Given the description of an element on the screen output the (x, y) to click on. 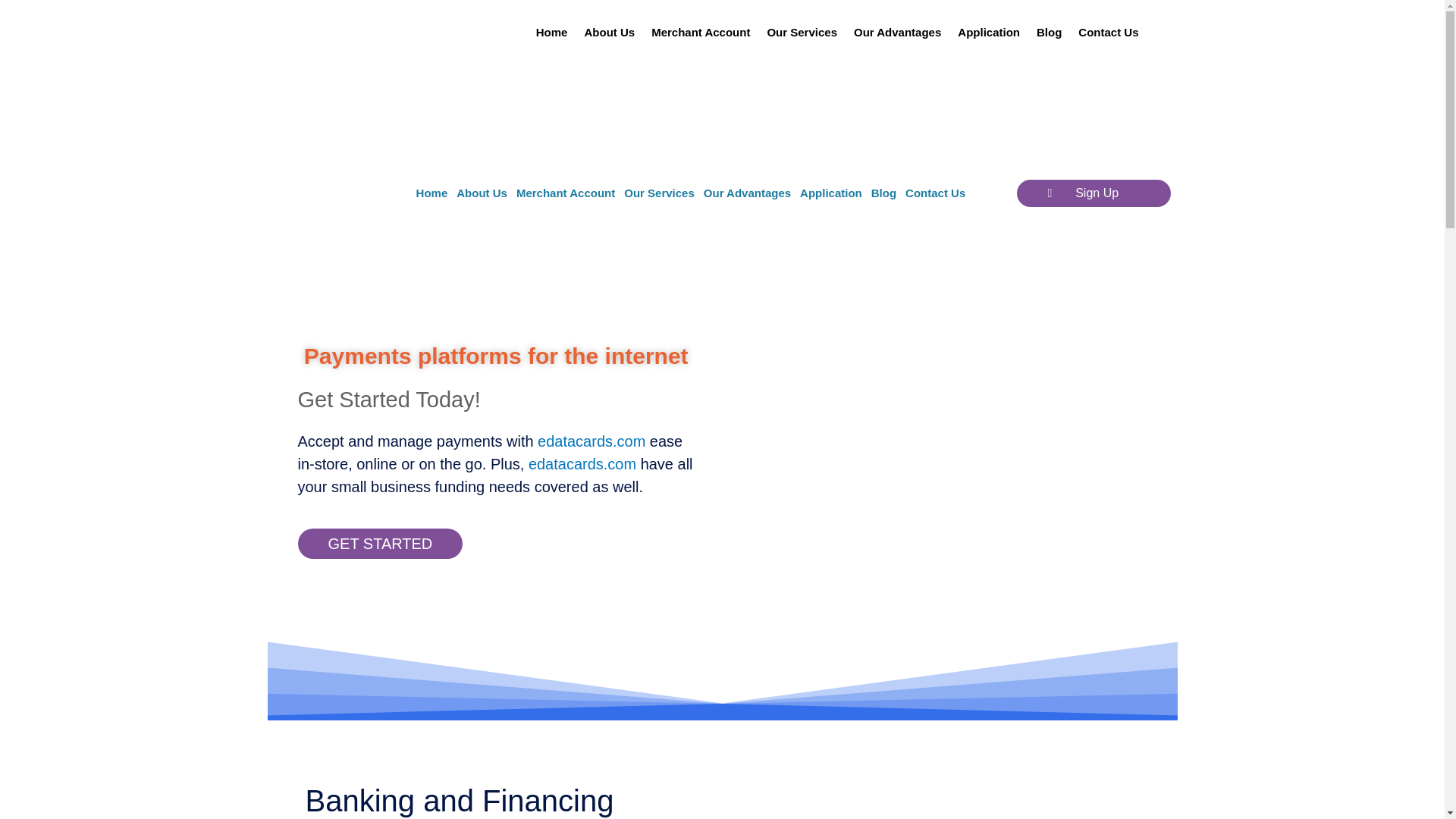
edatacards.com (591, 441)
Contact Us (1108, 32)
Merchant Account (566, 192)
Home (432, 192)
Contact Us (935, 192)
Sign Up (1093, 193)
GET STARTED (380, 543)
Blog (1048, 32)
Application (988, 32)
Our Services (801, 32)
Merchant Account (700, 32)
Our Services (659, 192)
About Us (481, 192)
Application (830, 192)
edatacards.com (582, 463)
